Given the description of an element on the screen output the (x, y) to click on. 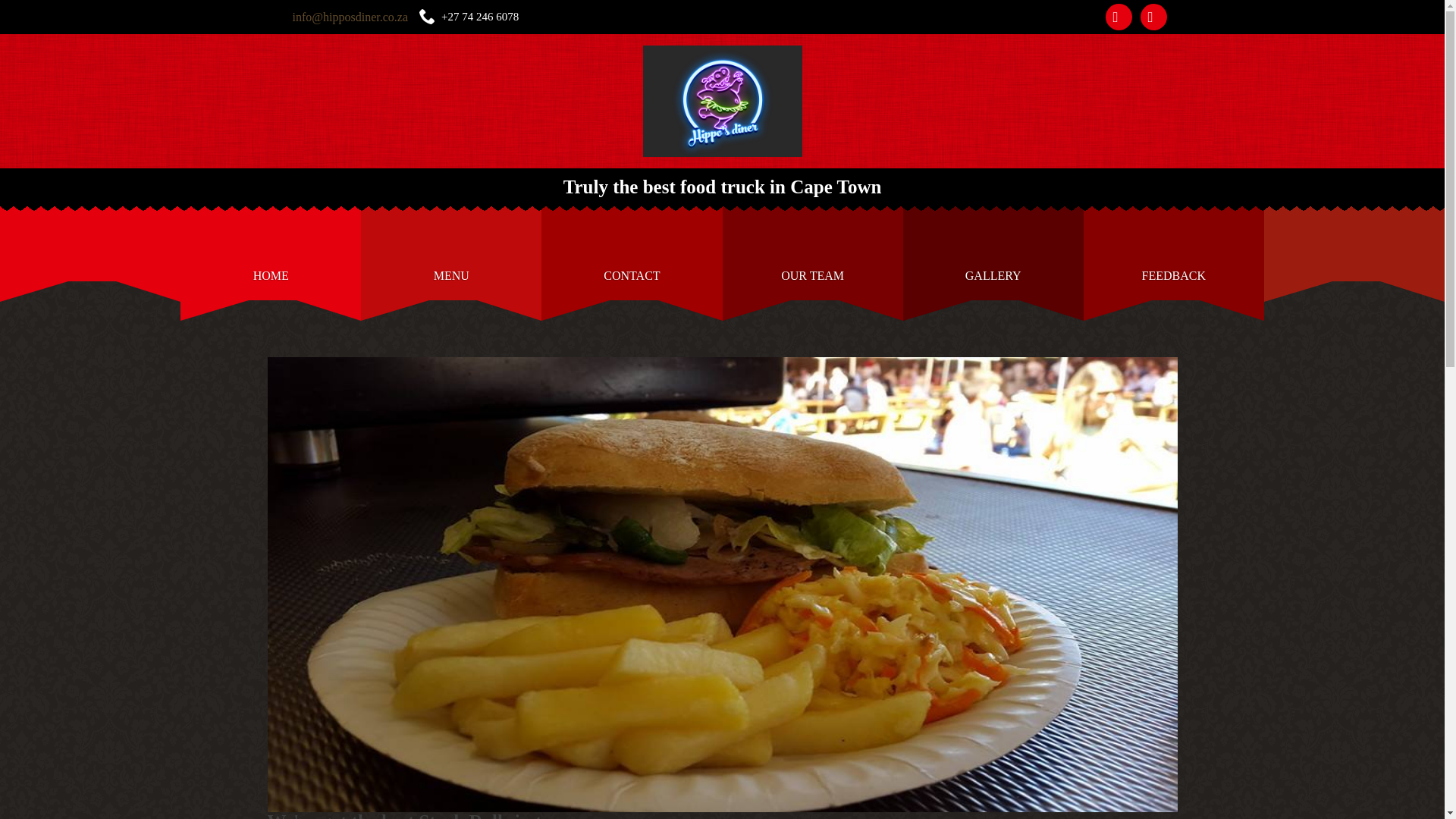
MENU (451, 252)
FEEDBACK (1173, 252)
GALLERY (992, 252)
OUR TEAM (812, 252)
CONTACT (631, 252)
HOME (270, 252)
